Given the description of an element on the screen output the (x, y) to click on. 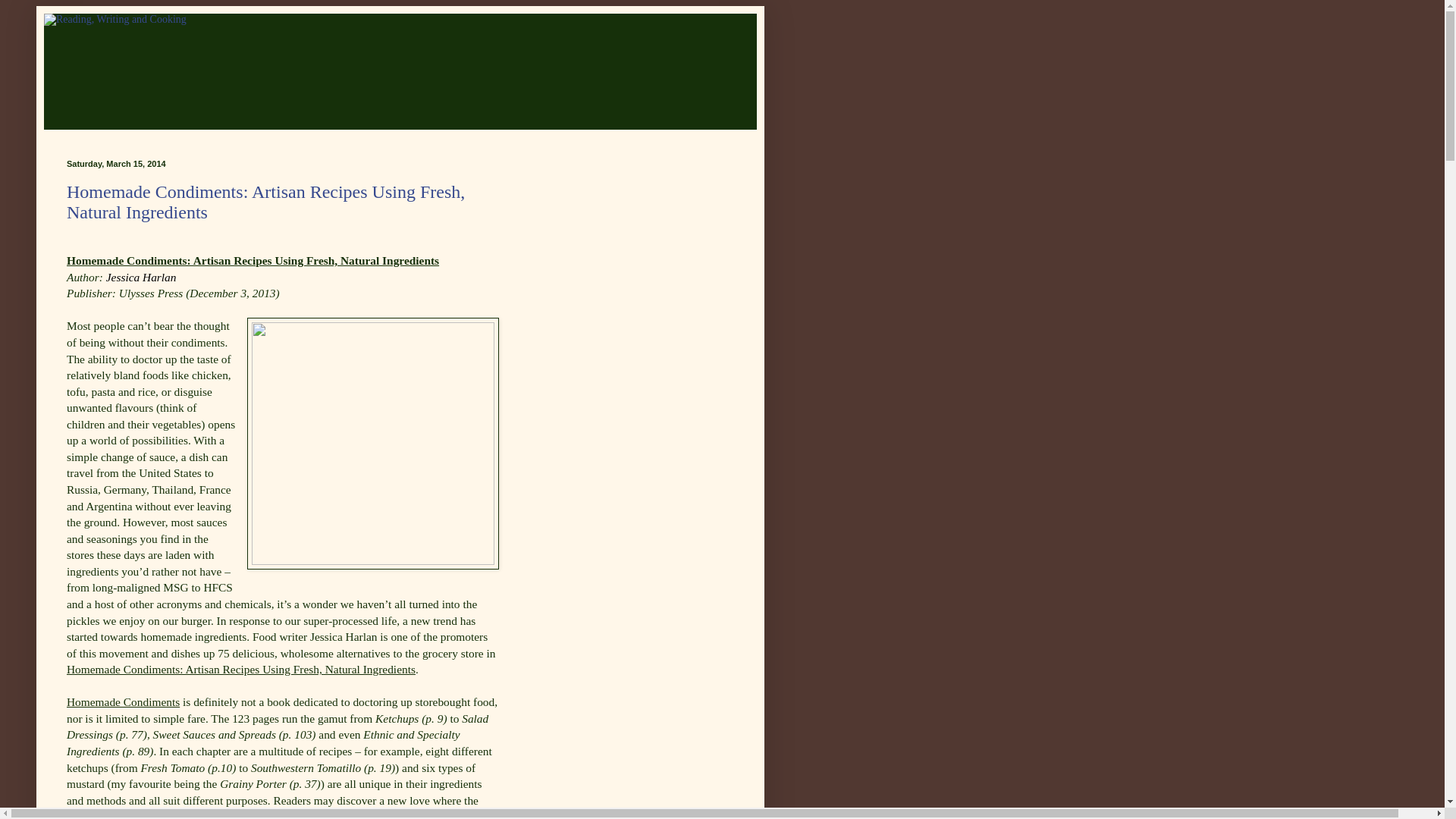
Email Post (73, 230)
Jessica Harlan (141, 277)
